Given the description of an element on the screen output the (x, y) to click on. 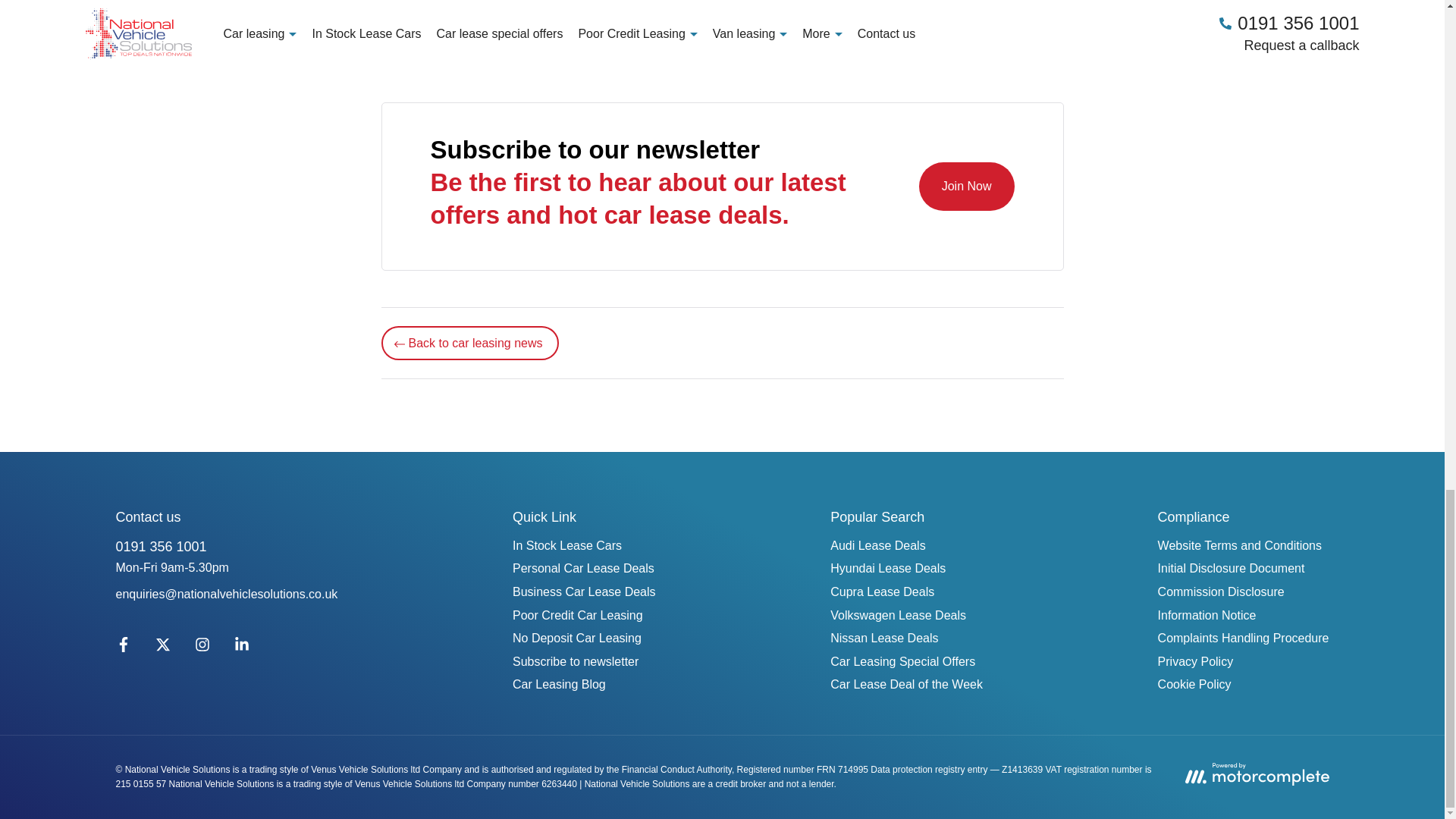
Instagram (201, 647)
Twitter (162, 647)
Facebook (122, 647)
LinkedIn (240, 647)
Car lease broker websites by MotorComplete (1256, 774)
